Given the description of an element on the screen output the (x, y) to click on. 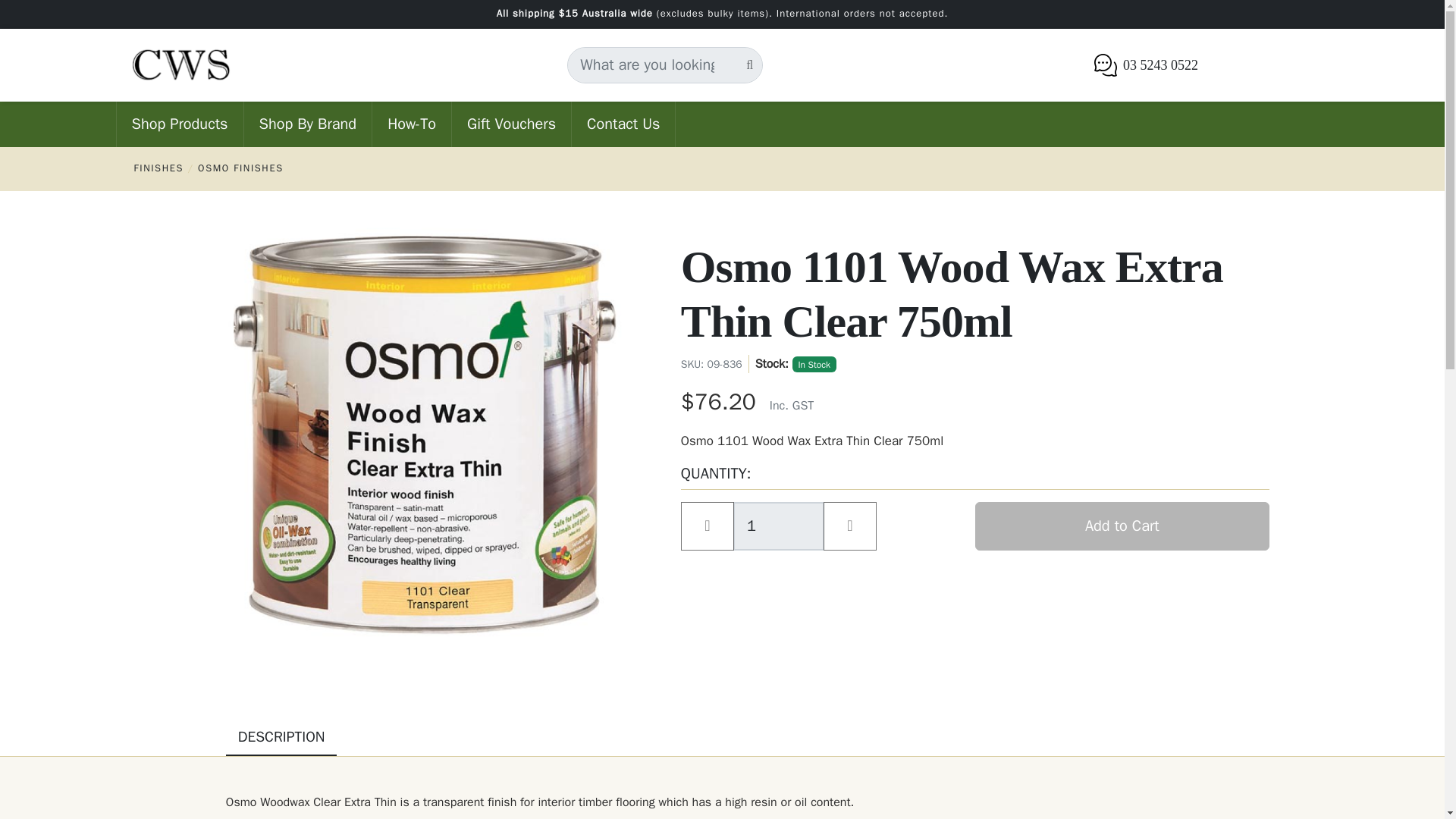
Shop Products (179, 123)
1 (778, 526)
 03 5243 0522 (1145, 65)
